Given the description of an element on the screen output the (x, y) to click on. 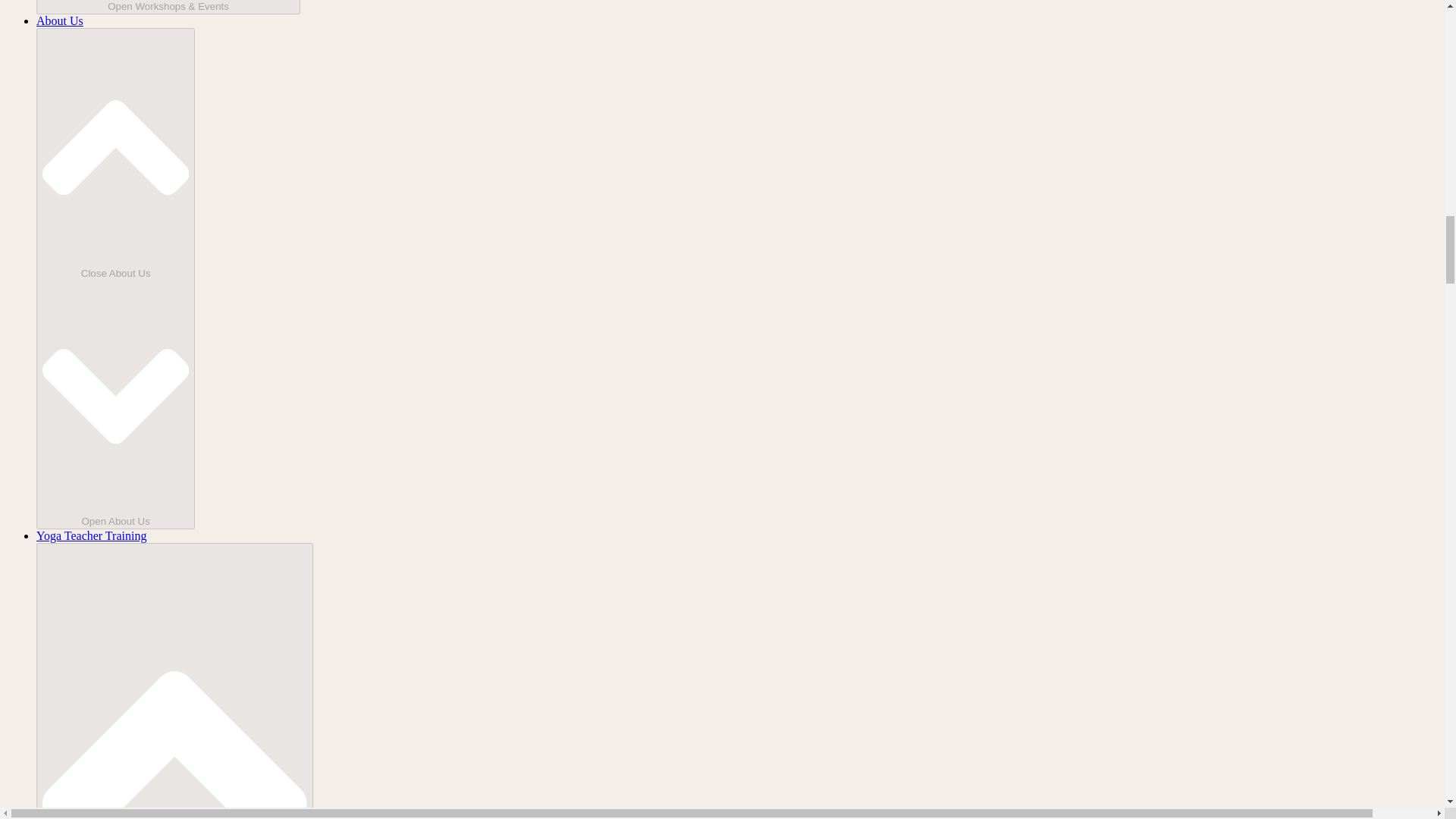
Close Yoga Teacher Training Open Yoga Teacher Training (174, 680)
About Us (59, 20)
Yoga Teacher Training (91, 535)
Close About Us Open About Us (115, 278)
